Given the description of an element on the screen output the (x, y) to click on. 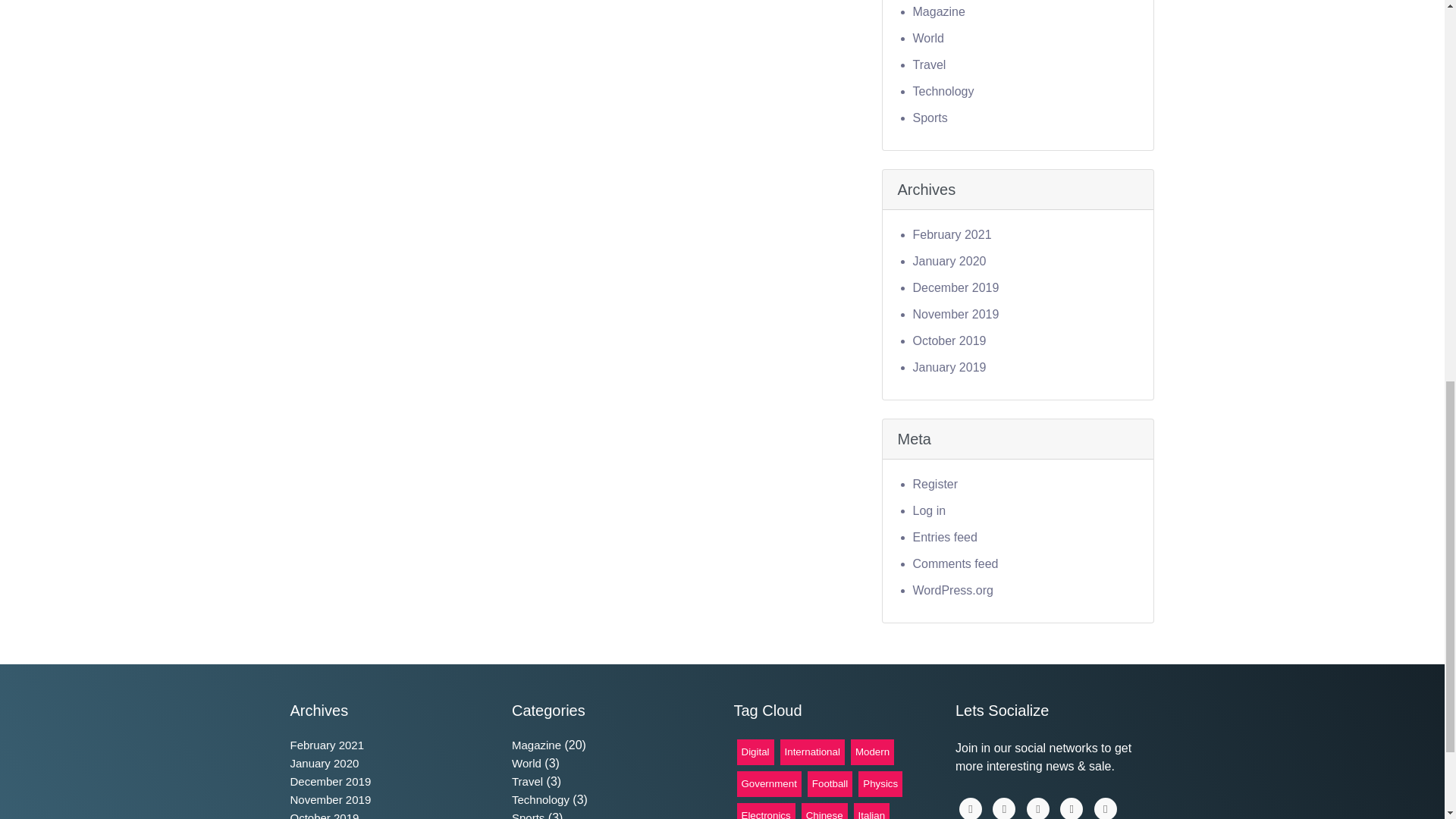
Twiiter (1037, 808)
Linkedin (1003, 808)
Facebook (970, 808)
